Given the description of an element on the screen output the (x, y) to click on. 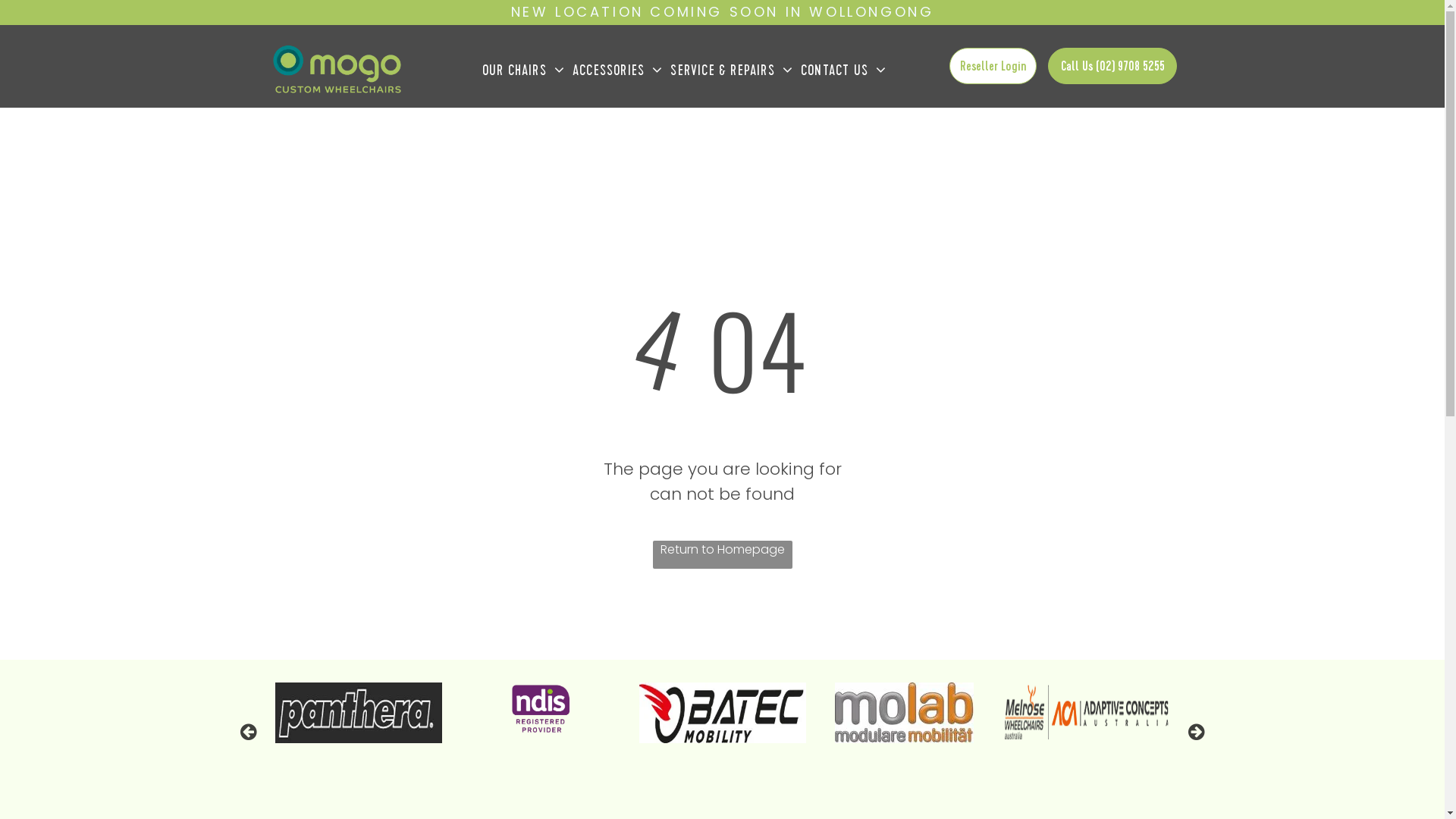
aria-wheels Element type: text (136, 712)
Mogo Wheelchairs: Providing Custom Wheelchairs in Sydney Element type: hover (335, 68)
CONTACT US Element type: text (843, 70)
ACCESSORIES Element type: text (617, 70)
Return to Homepage Element type: text (721, 554)
Reseller Login Element type: text (992, 65)
wolturnus Element type: text (304, 712)
panthera Element type: text (472, 712)
SERVICE & REPAIRS Element type: text (731, 70)
melrose Element type: text (1153, 712)
mogo Element type: text (981, 712)
batec-accessories#Batec Element type: text (810, 712)
OUR CHAIRS Element type: text (523, 70)
Call Us (02) 9708 5255 Element type: text (1112, 65)
